Given the description of an element on the screen output the (x, y) to click on. 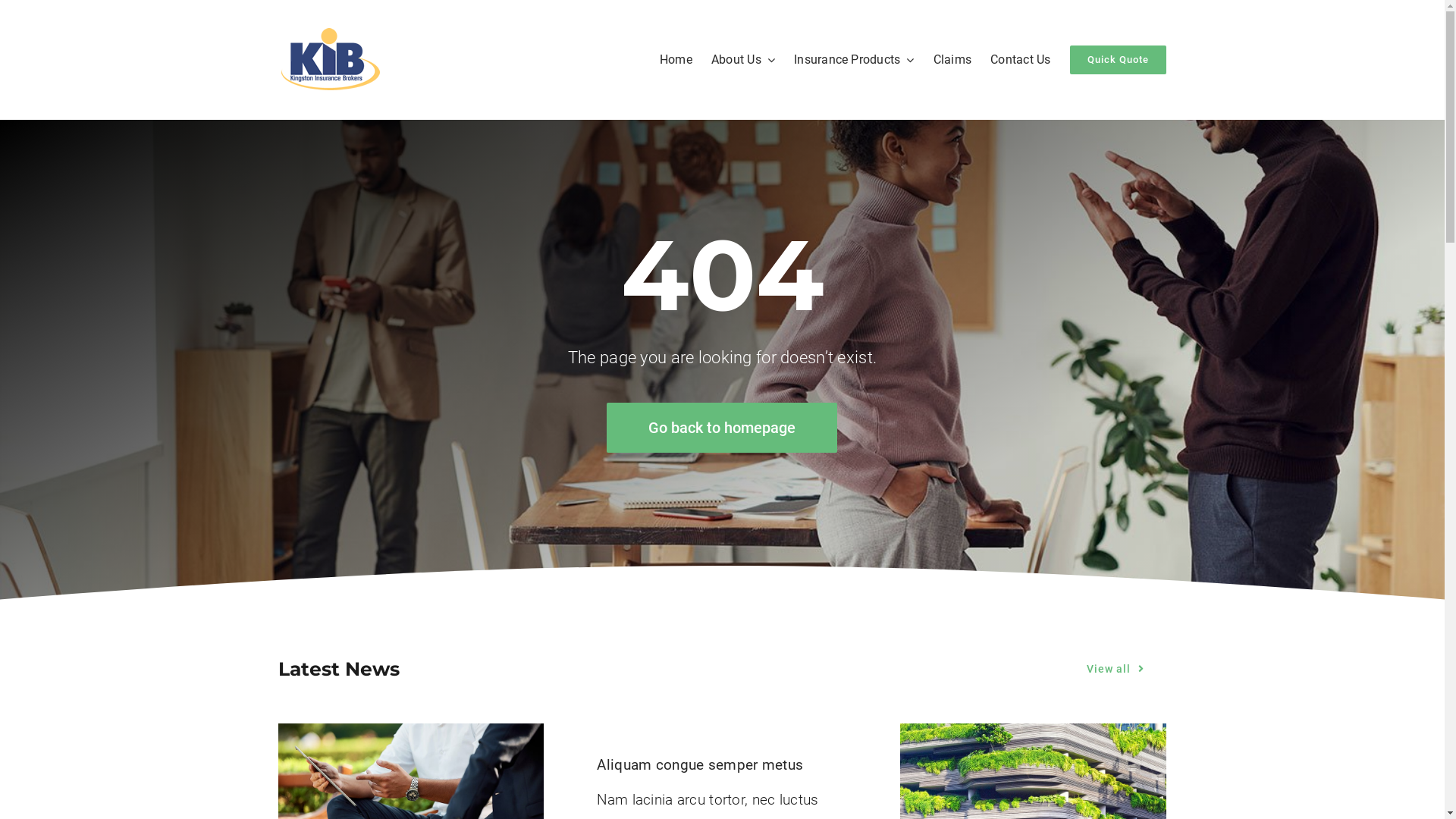
Quick Quote Element type: text (1118, 59)
View all Element type: text (1115, 668)
Home Element type: text (675, 59)
Insurance Products Element type: text (853, 59)
About Us Element type: text (743, 59)
Aliquam congue semper metus Element type: text (699, 764)
Contact Us Element type: text (1020, 59)
Claims Element type: text (952, 59)
Go back to homepage Element type: text (721, 427)
